Given the description of an element on the screen output the (x, y) to click on. 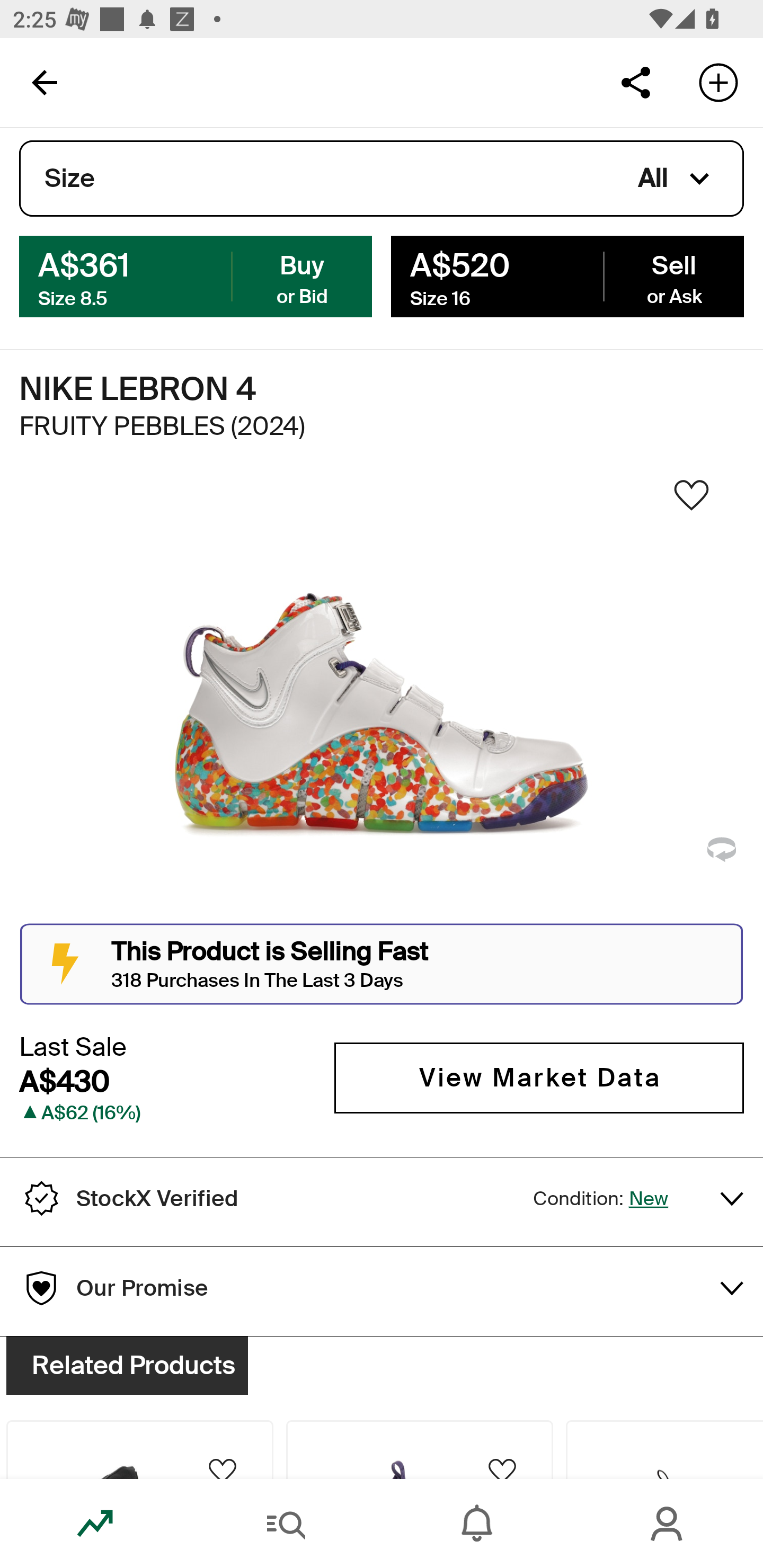
Share (635, 81)
Add (718, 81)
Size All (381, 178)
A$361 Buy Size 8.5 or Bid (195, 275)
A$520 Sell Size 16 or Ask (566, 275)
Sneaker Image (381, 699)
View Market Data (538, 1077)
Search (285, 1523)
Inbox (476, 1523)
Account (667, 1523)
